Given the description of an element on the screen output the (x, y) to click on. 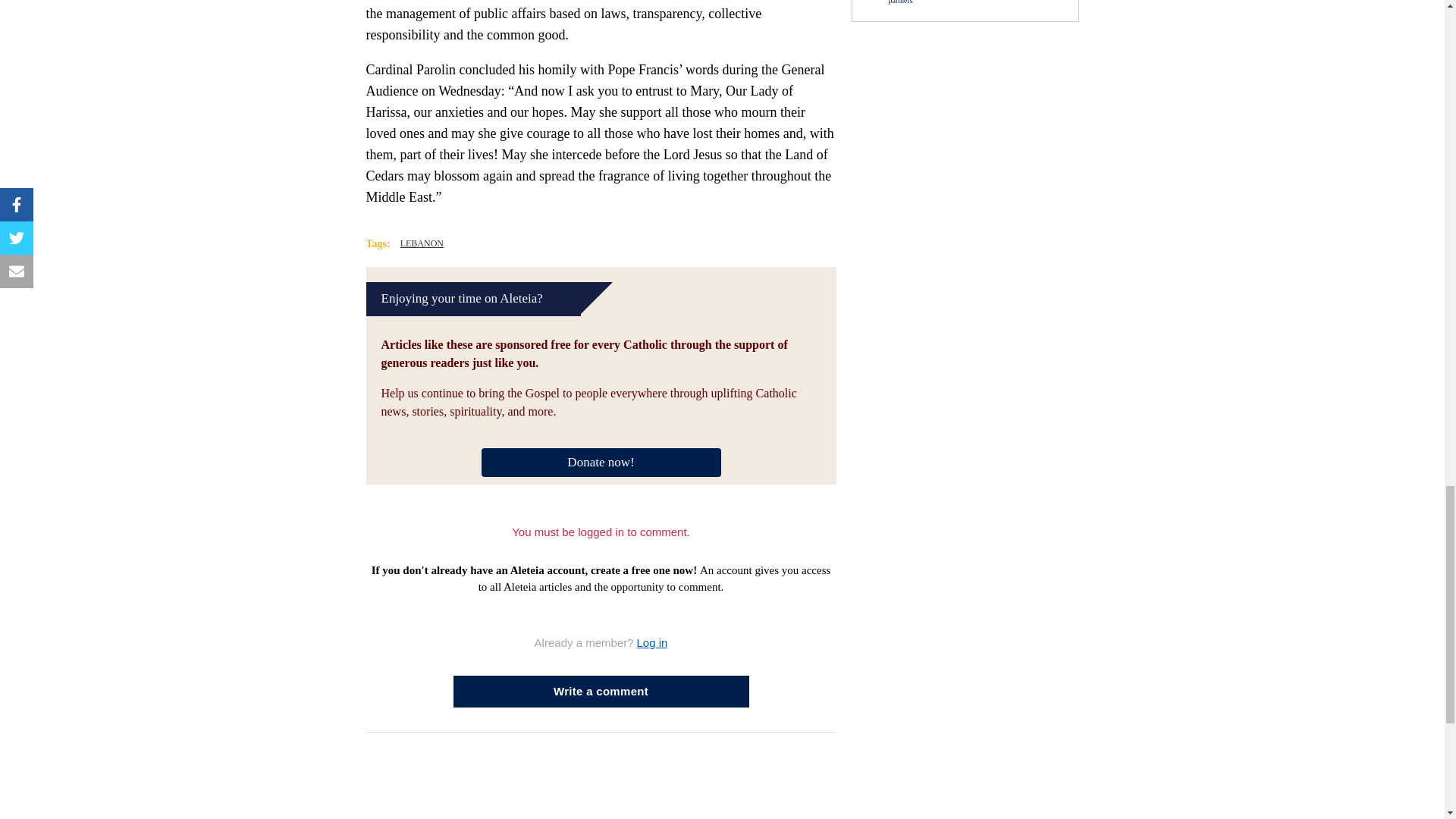
Donate now! (600, 460)
LEBANON (421, 243)
